Given the description of an element on the screen output the (x, y) to click on. 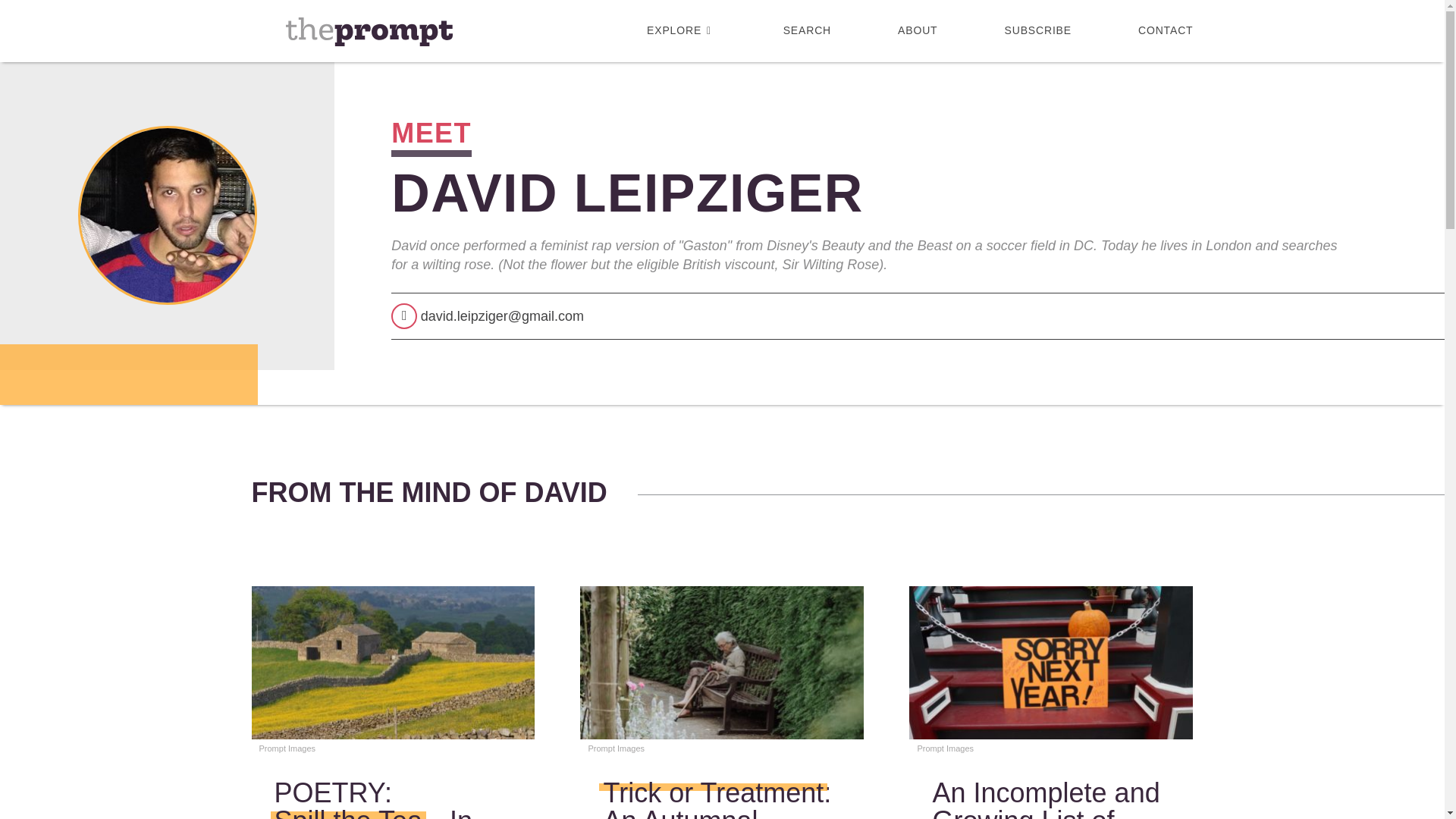
SUBSCRIBE (1037, 30)
SEARCH (806, 30)
EXPLORE (680, 30)
ABOUT (917, 30)
Trick or Treatment: An Autumnal Mental Health Vignette (716, 798)
CONTACT (1149, 30)
